Given the description of an element on the screen output the (x, y) to click on. 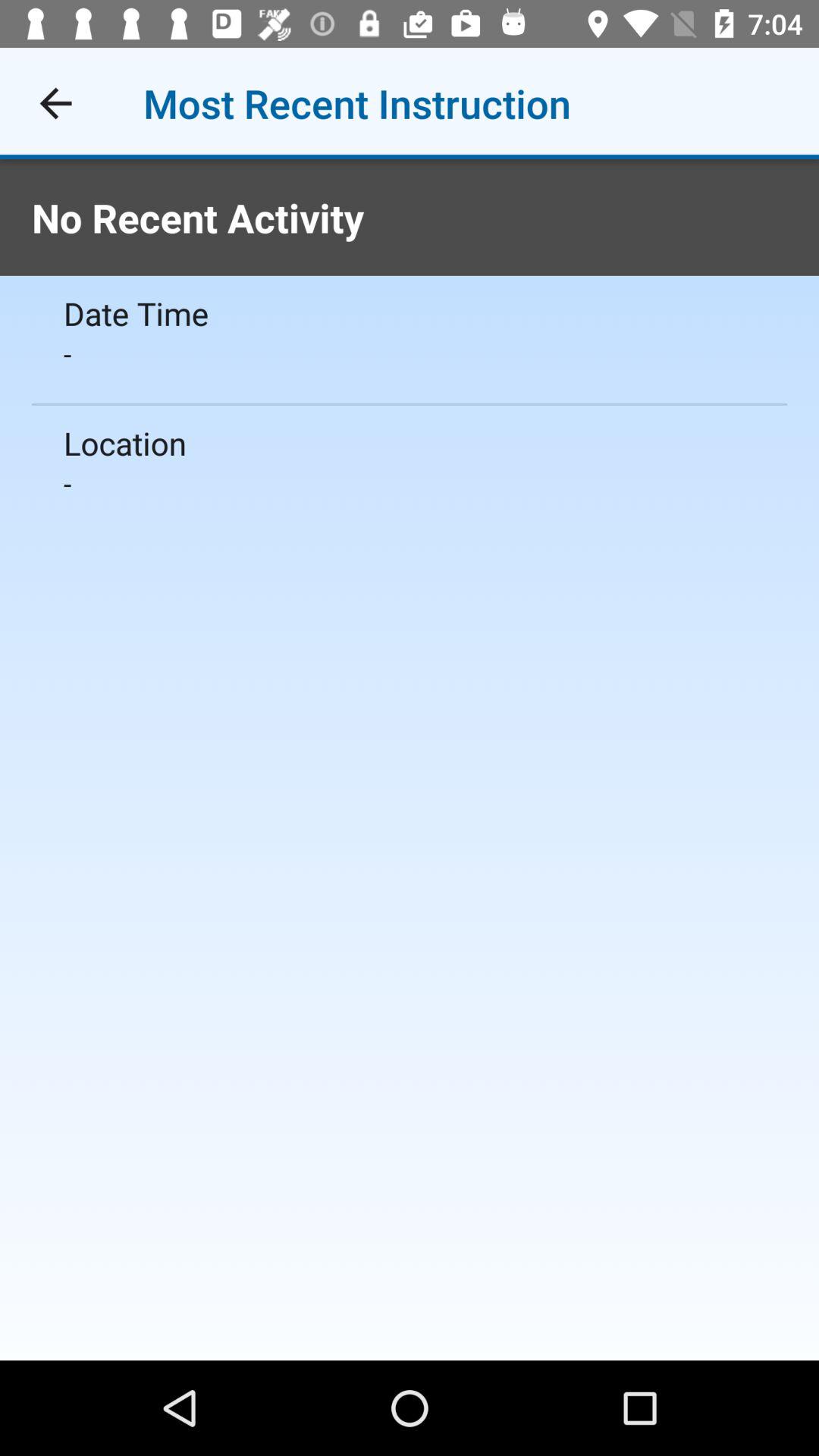
turn on the icon at the top left corner (55, 103)
